Given the description of an element on the screen output the (x, y) to click on. 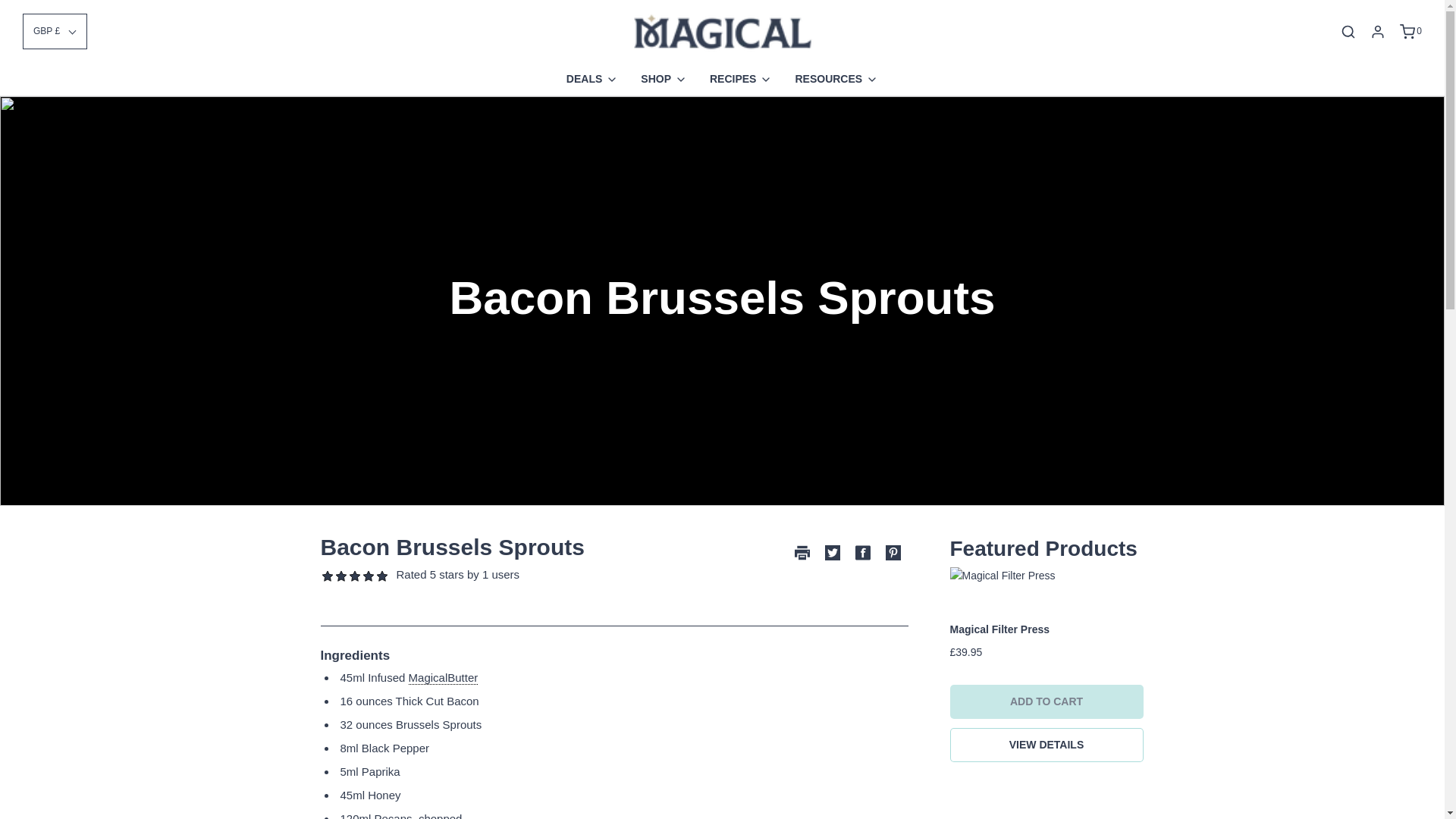
Cart (1409, 31)
Log in (1377, 31)
Search (1347, 31)
Magical Filter Press (1045, 575)
